Given the description of an element on the screen output the (x, y) to click on. 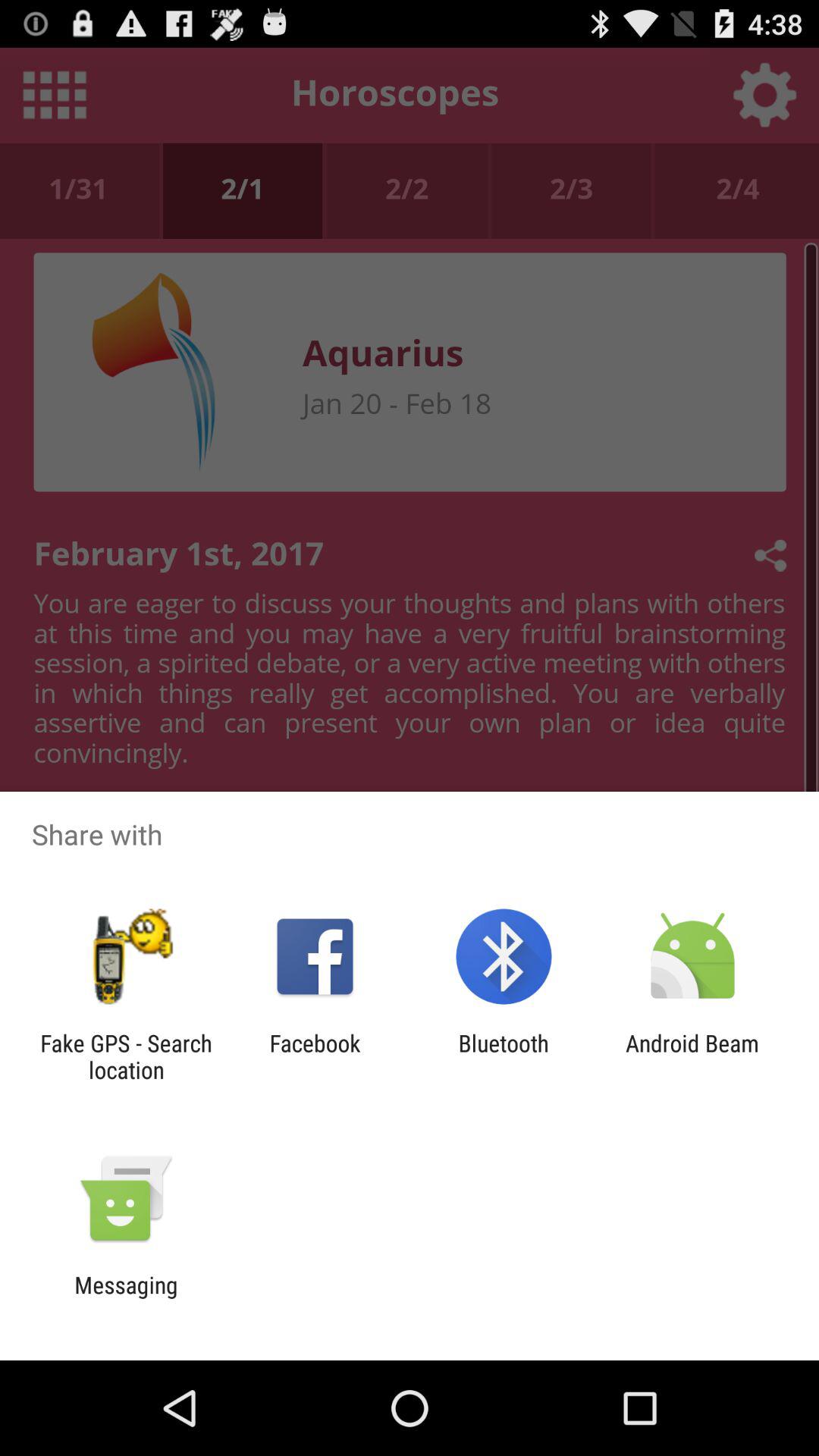
turn off app next to the android beam app (503, 1056)
